Given the description of an element on the screen output the (x, y) to click on. 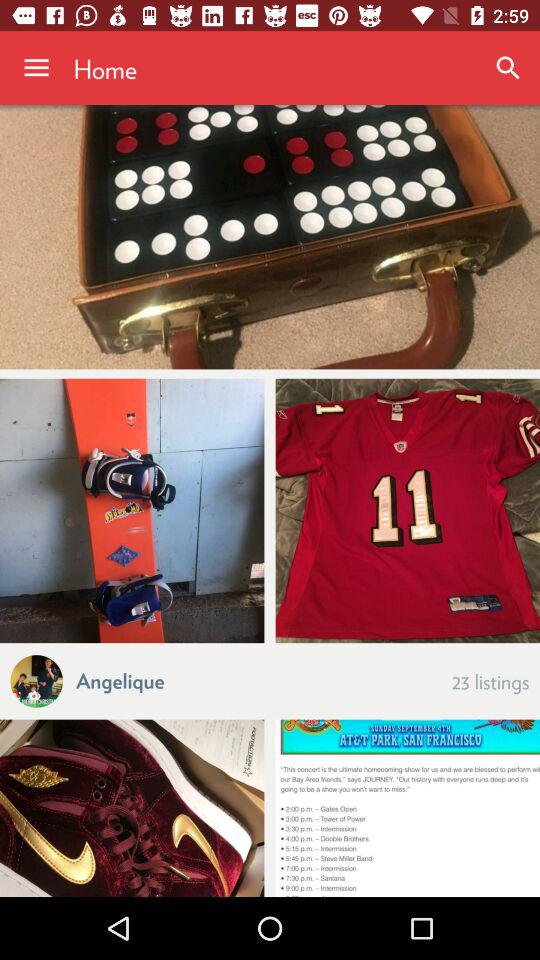
open item to the left of 23 listings icon (120, 679)
